Given the description of an element on the screen output the (x, y) to click on. 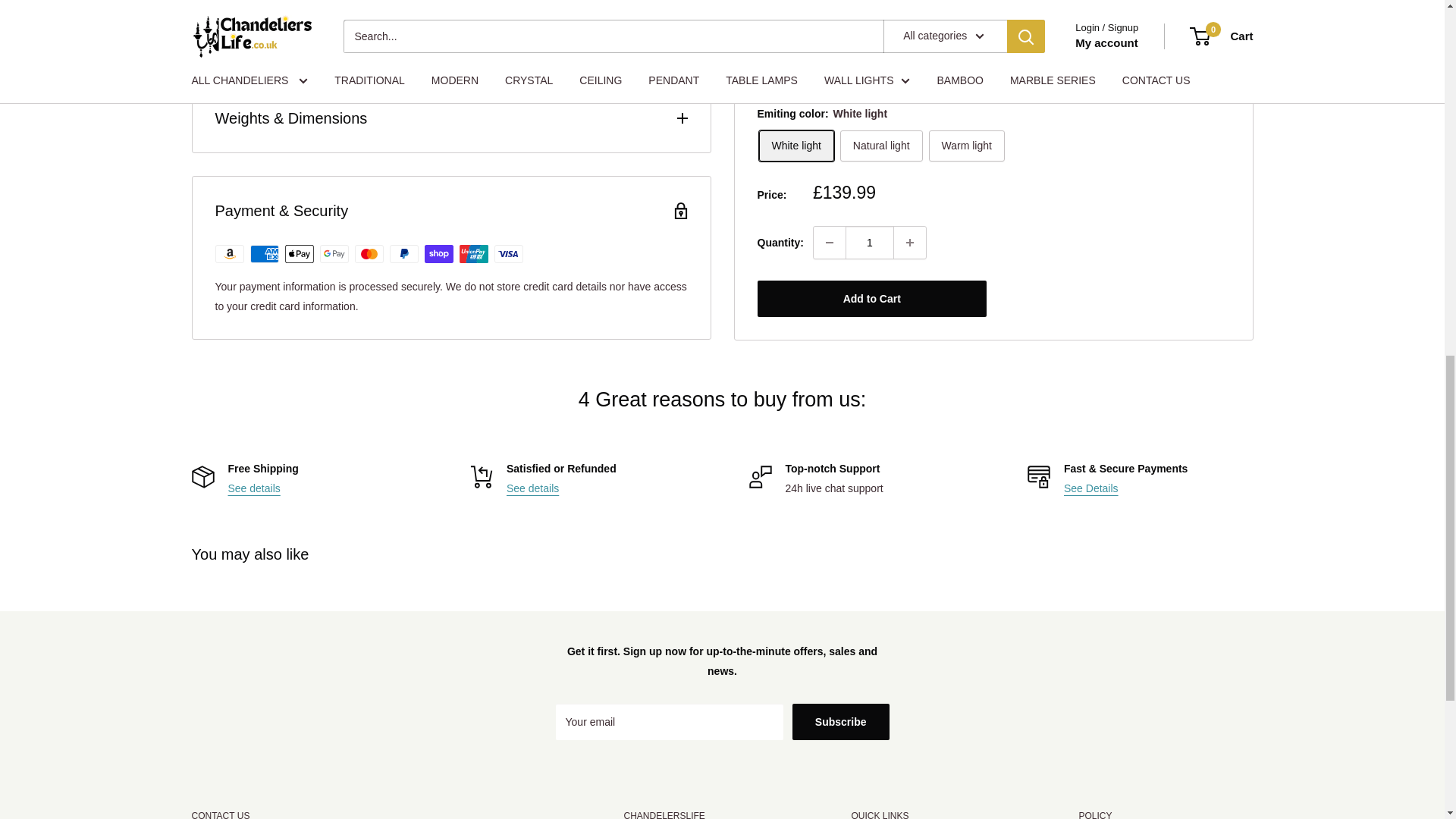
Shipping policy (253, 488)
Refund Policy (532, 488)
Payment methods (1091, 488)
